Given the description of an element on the screen output the (x, y) to click on. 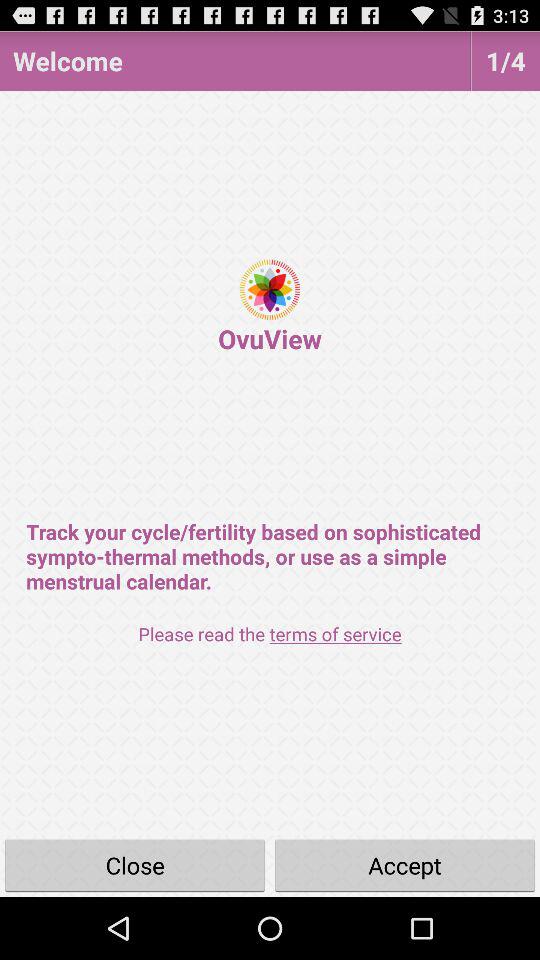
turn on the close at the bottom left corner (135, 864)
